Given the description of an element on the screen output the (x, y) to click on. 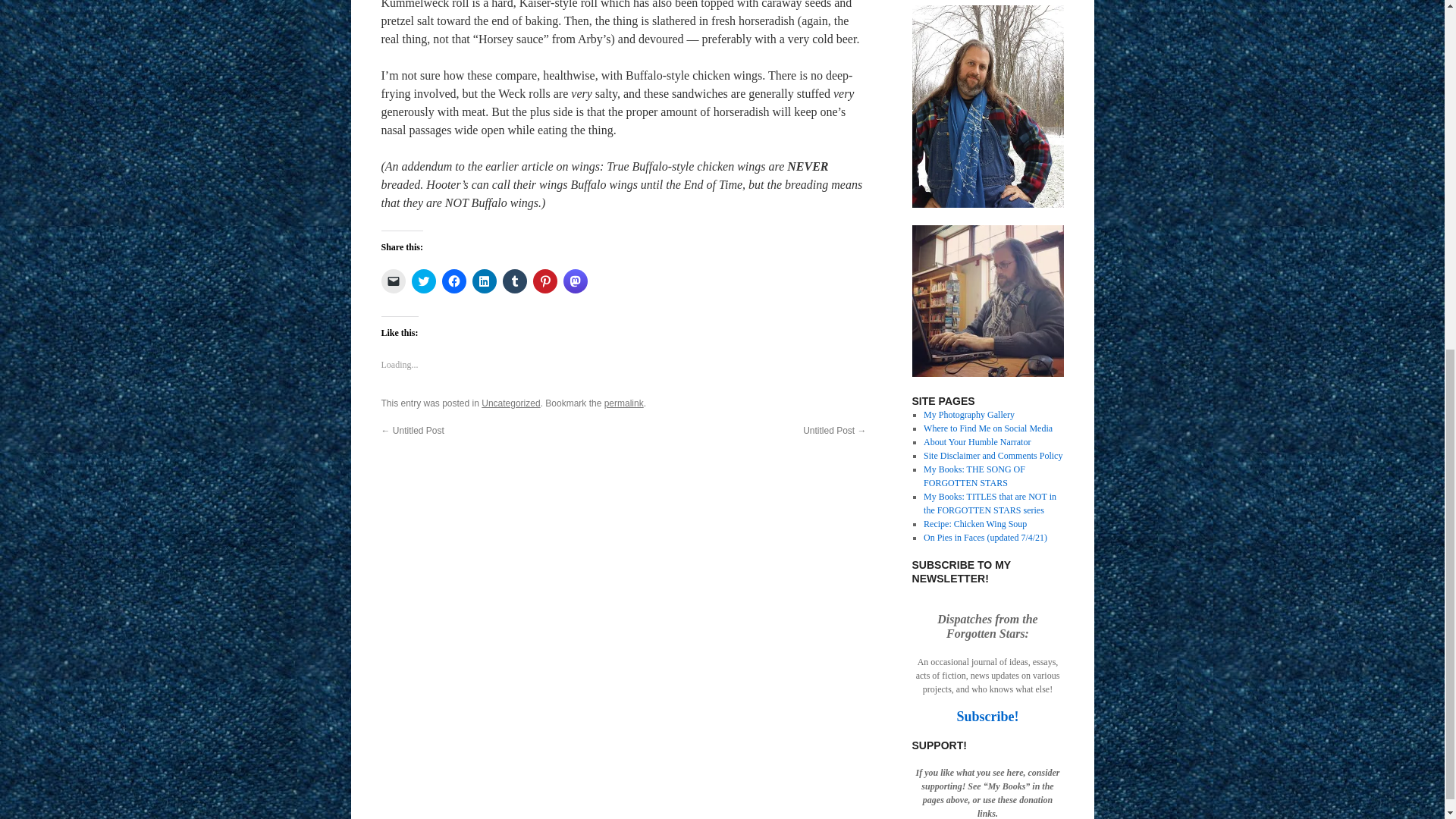
About Your Humble Narrator (976, 441)
Site Disclaimer and Comments Policy (992, 455)
Click to share on Mastodon (574, 281)
permalink (623, 403)
Click to share on Pinterest (544, 281)
Click to share on Tumblr (513, 281)
Click to share on LinkedIn (483, 281)
Click to share on Twitter (422, 281)
Recipe: Chicken Wing Soup (974, 523)
My Books: TITLES that are NOT in the FORGOTTEN STARS series (990, 503)
Click to email a link to a friend (392, 281)
My Books: THE SONG OF FORGOTTEN STARS (974, 476)
Permalink to Untitled Post (623, 403)
Click to share on Facebook (453, 281)
Uncategorized (510, 403)
